Given the description of an element on the screen output the (x, y) to click on. 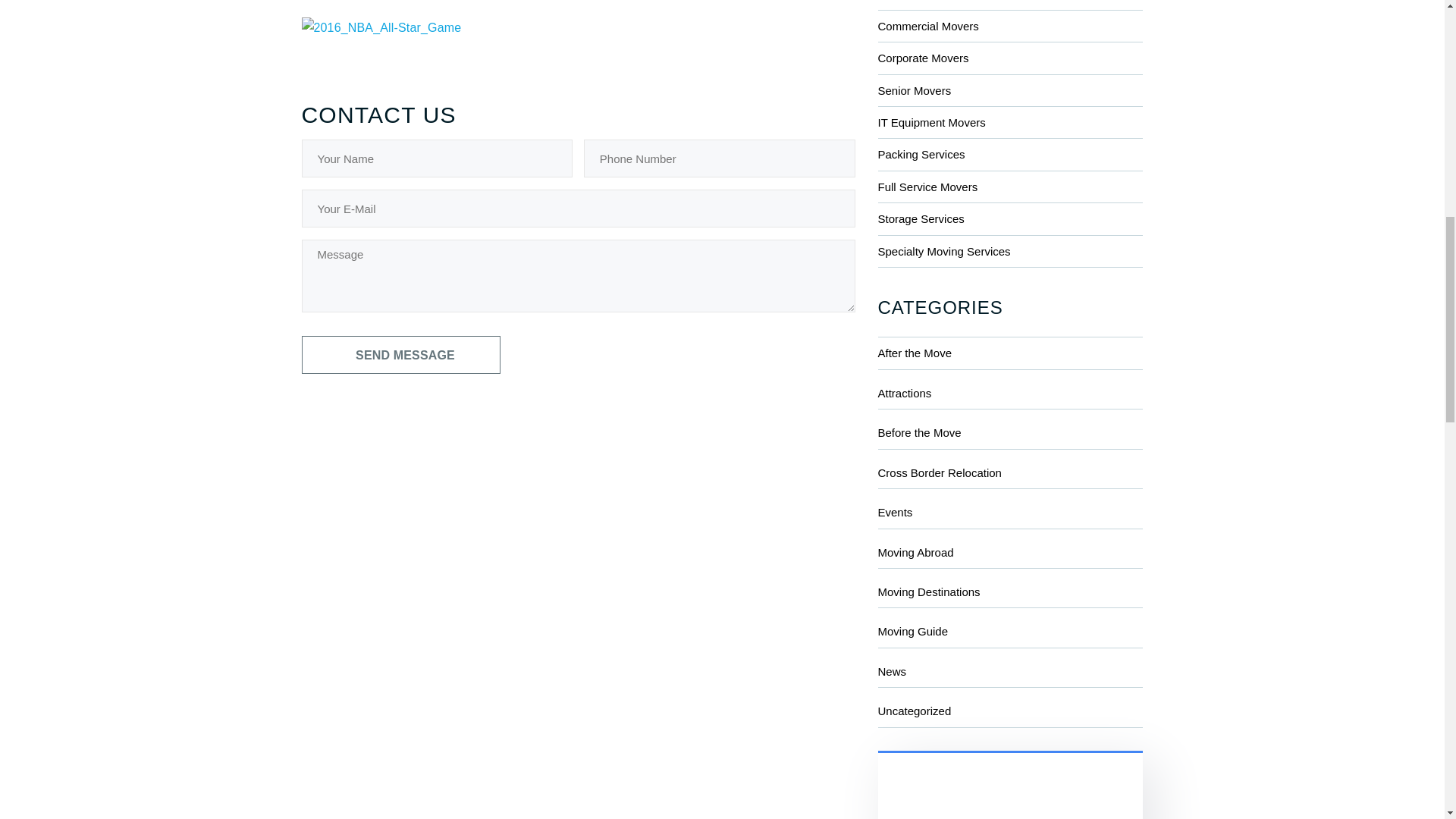
Send Message (400, 354)
Send Message (400, 354)
